Given the description of an element on the screen output the (x, y) to click on. 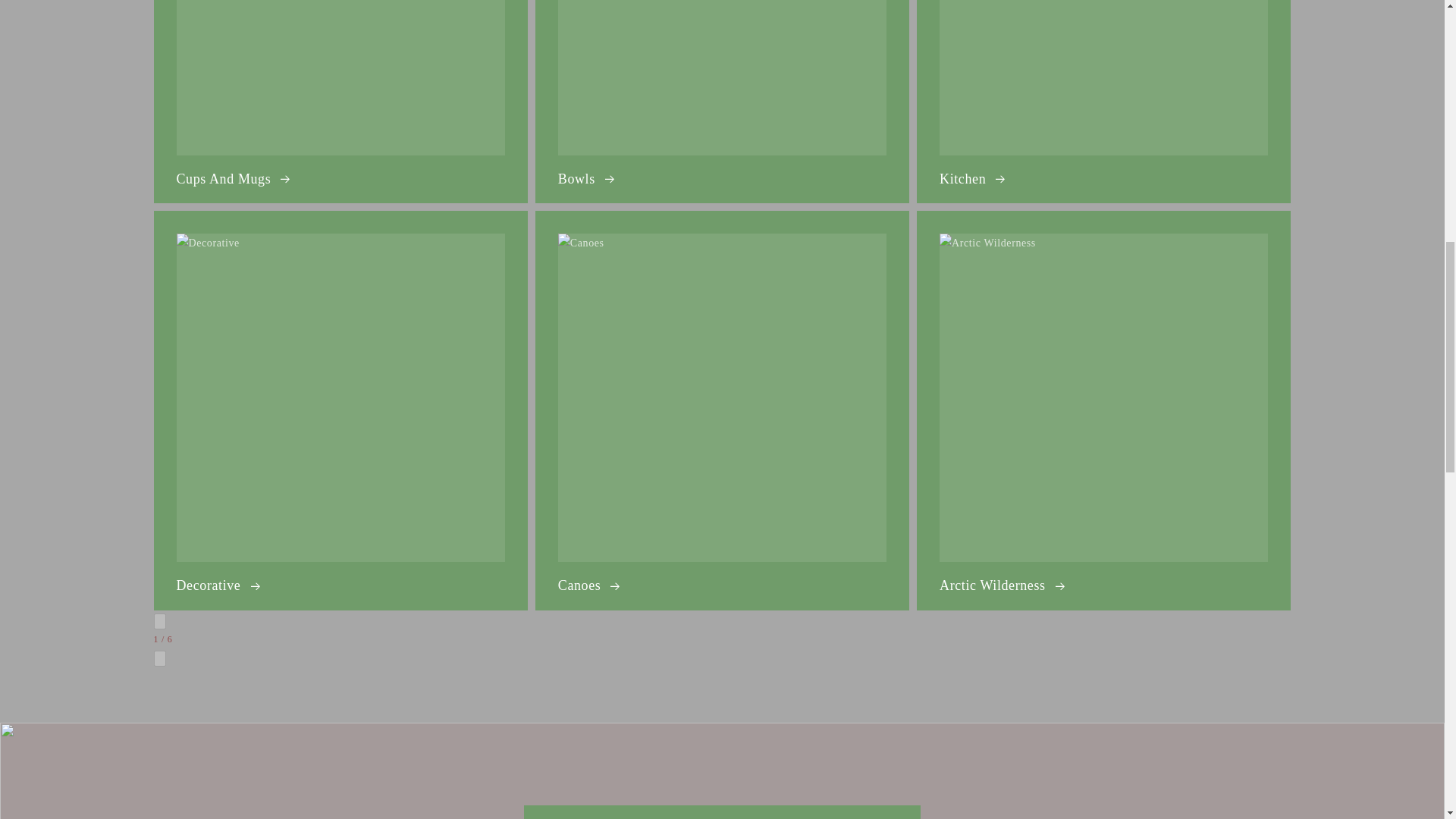
Cups And Mugs  (339, 101)
Bowls  (721, 101)
Kitchen  (1103, 101)
